Given the description of an element on the screen output the (x, y) to click on. 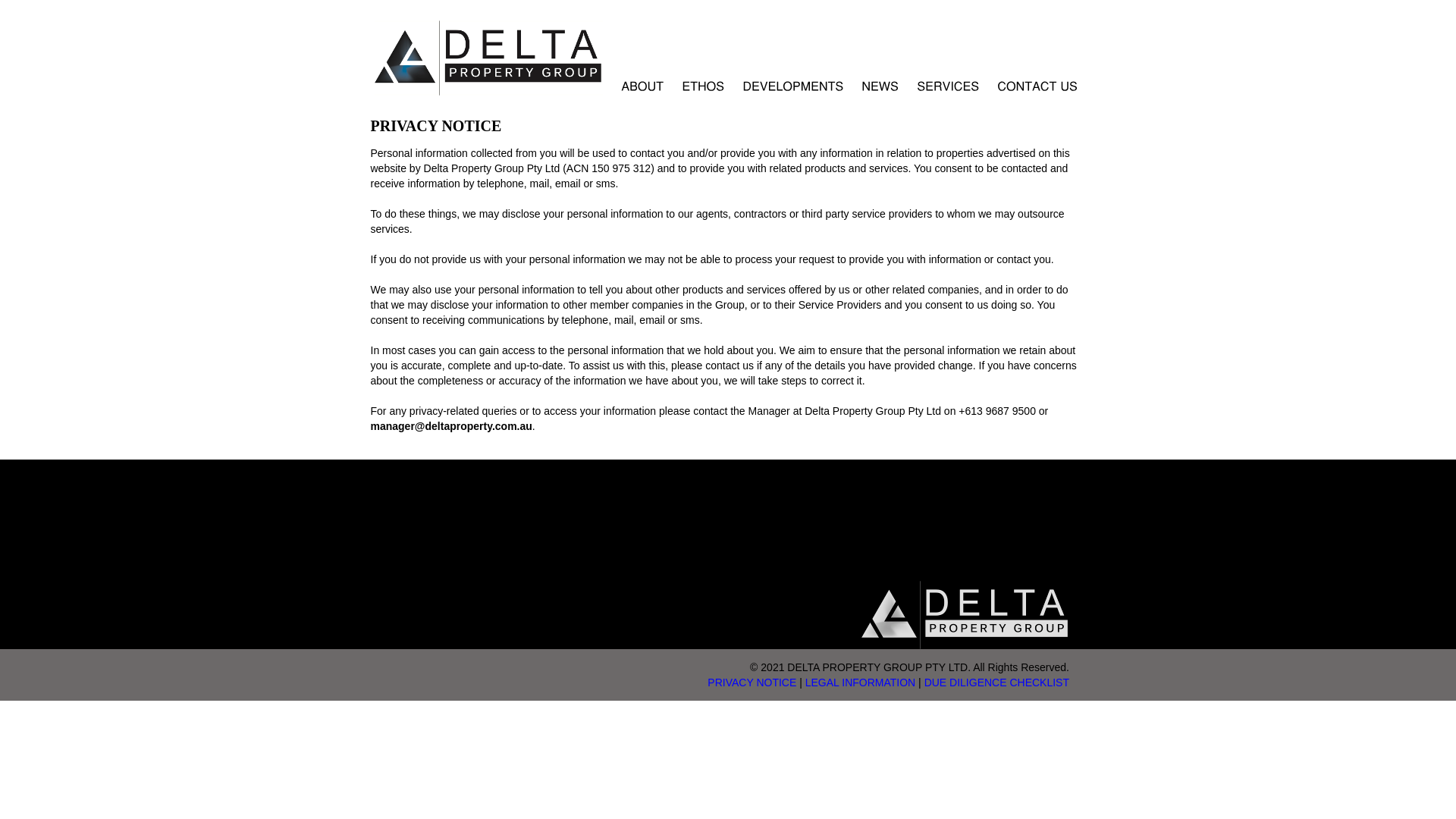
LEGAL INFORMATION Element type: text (860, 682)
Delta Property Group Element type: hover (488, 90)
ReKon Real Estate Element type: hover (965, 644)
PRIVACY NOTICE Element type: text (751, 682)
DUE DILIGENCE CHECKLIST Element type: text (996, 682)
